Given the description of an element on the screen output the (x, y) to click on. 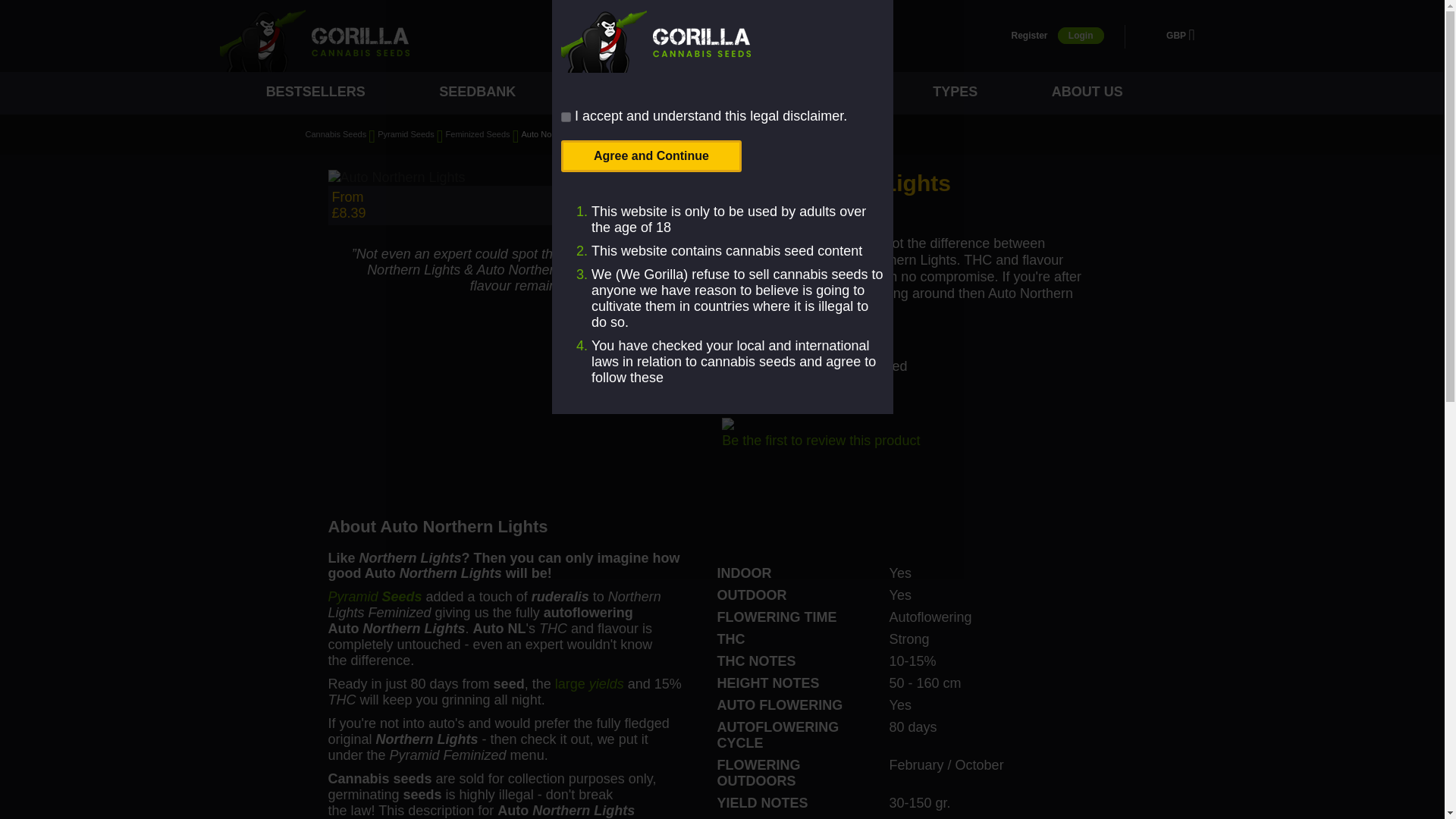
BESTSELLERS (318, 93)
Seedbank (480, 93)
SEEDBANK (480, 93)
Best Selling Cannabis Seeds (318, 93)
Search (595, 36)
Login (1080, 35)
1 (565, 117)
Agree and Continue (650, 155)
My Cart (1215, 36)
Search (595, 36)
Gorilla Cannabis Seeds (314, 40)
Register (1028, 35)
